Given the description of an element on the screen output the (x, y) to click on. 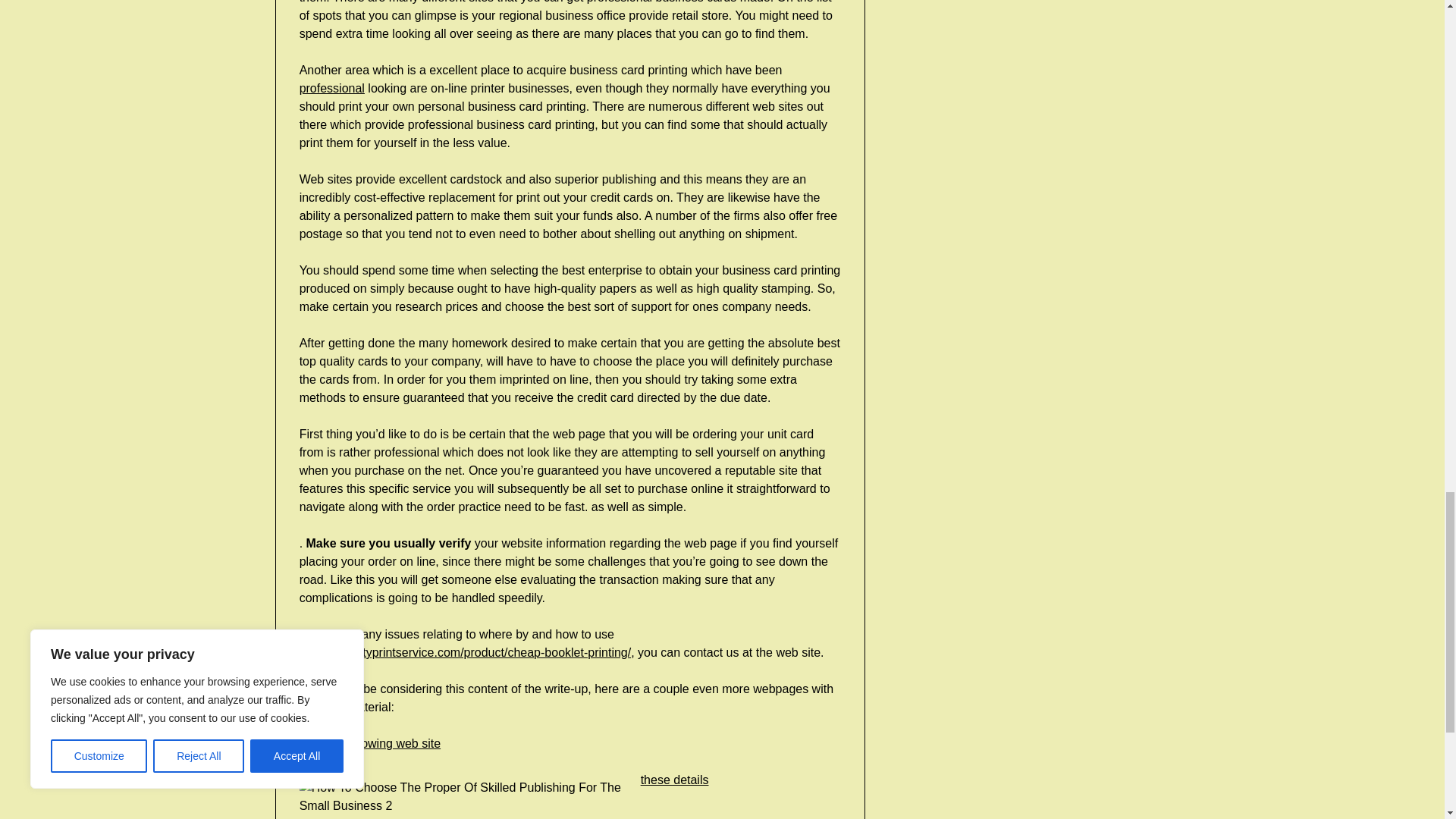
Visit the following web site (370, 743)
these details (674, 779)
professional (332, 88)
